Given the description of an element on the screen output the (x, y) to click on. 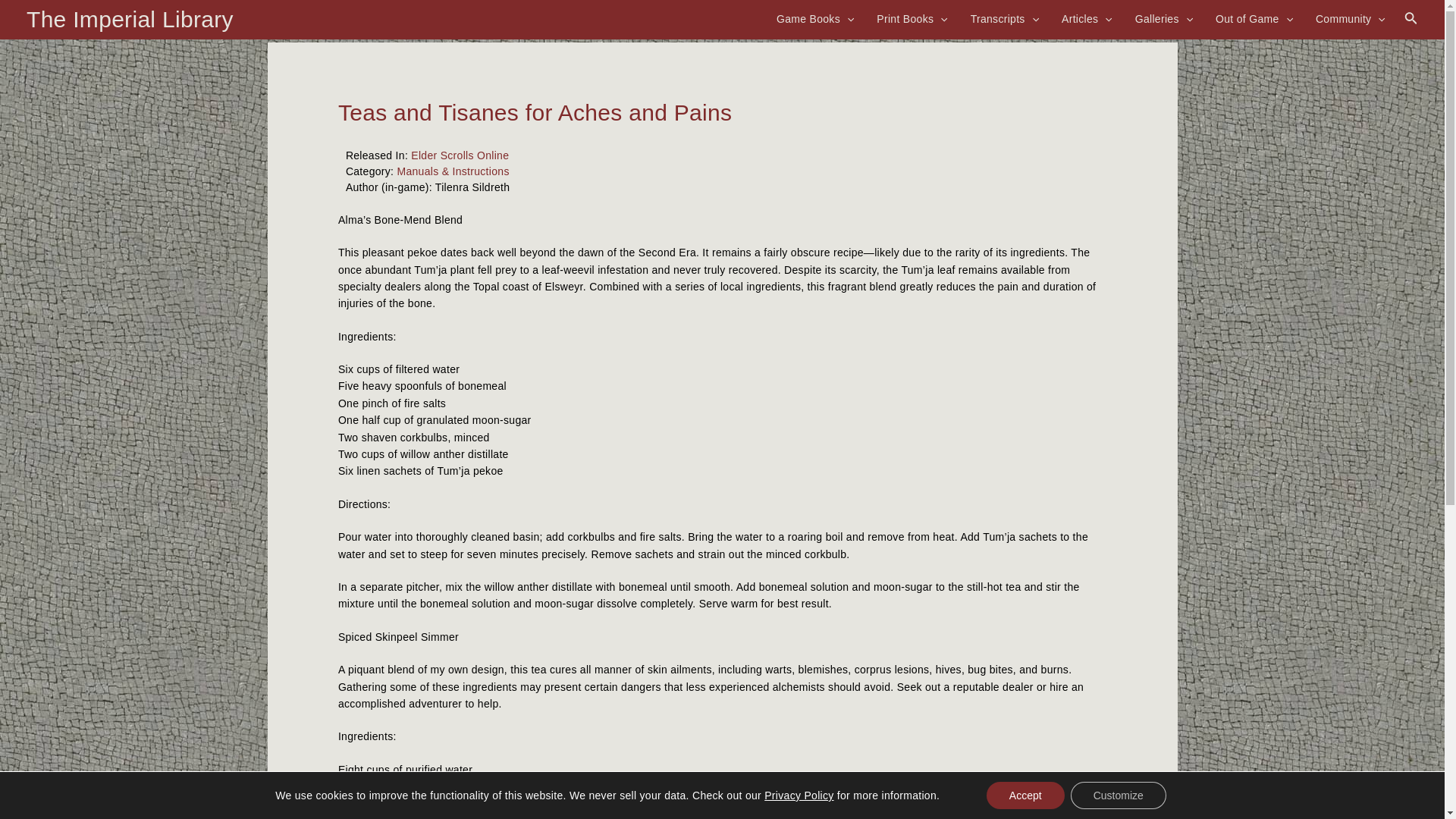
The Imperial Library (129, 18)
Articles (1087, 18)
Game Books (815, 18)
Print Books (911, 18)
Transcripts (1004, 18)
